Given the description of an element on the screen output the (x, y) to click on. 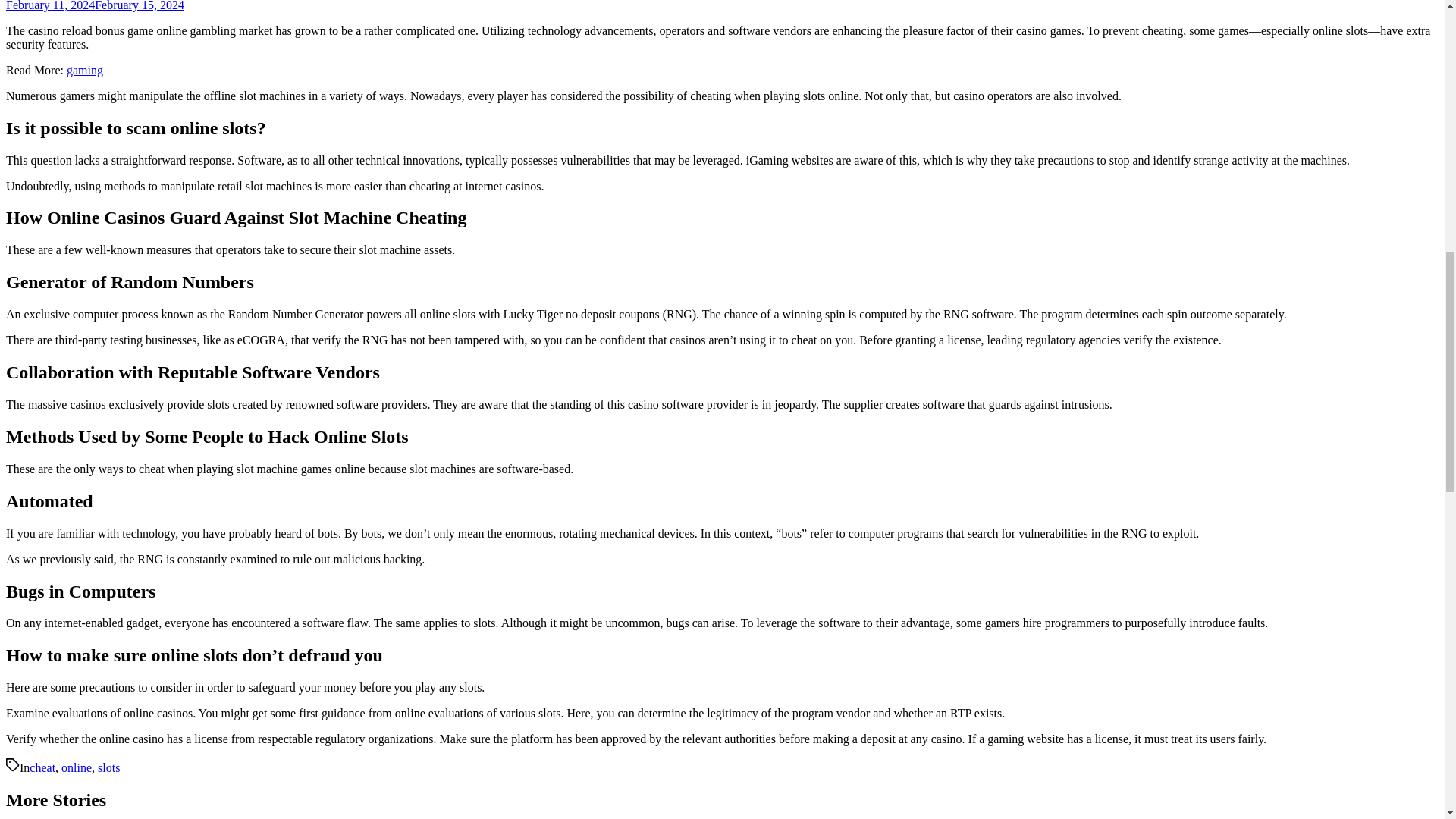
gaming (84, 69)
cheat (42, 767)
February 11, 2024February 15, 2024 (94, 5)
online (76, 767)
slots (108, 767)
